Given the description of an element on the screen output the (x, y) to click on. 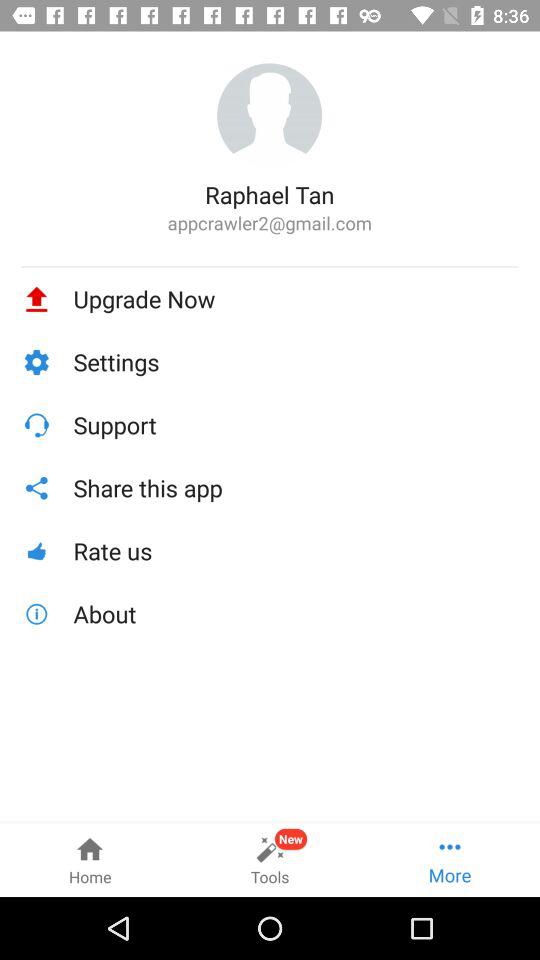
choose icon above the settings (296, 299)
